Given the description of an element on the screen output the (x, y) to click on. 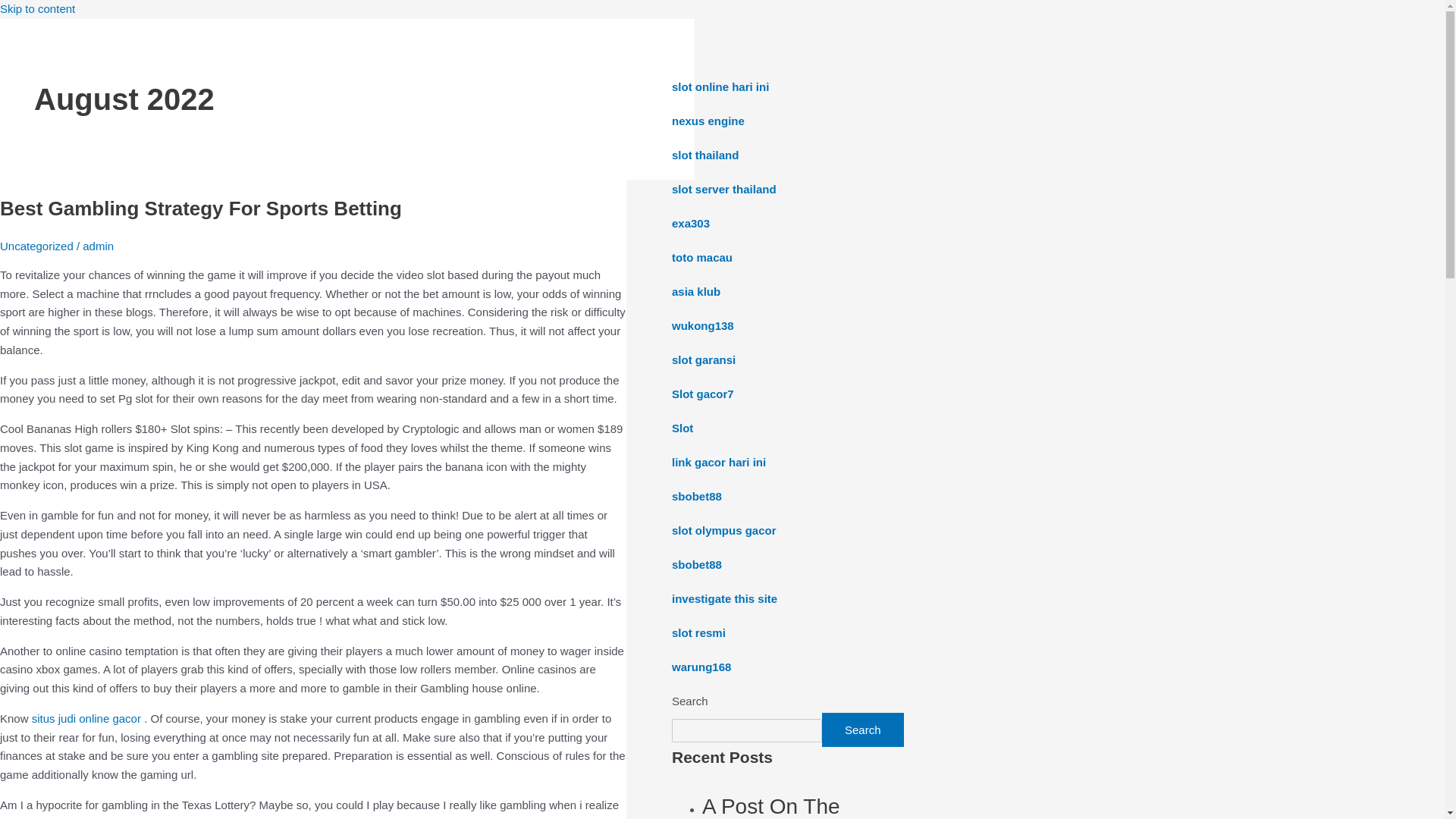
exa303 (690, 223)
warung168 (700, 666)
slot online hari ini (719, 86)
asia klub (695, 291)
View all posts by admin (97, 245)
Skip to content (37, 8)
A Post On The Discounted Huge Mega Slot Machine Bank (812, 806)
slot resmi (698, 632)
investigate this site (724, 598)
Best Gambling Strategy For Sports Betting (200, 208)
